Given the description of an element on the screen output the (x, y) to click on. 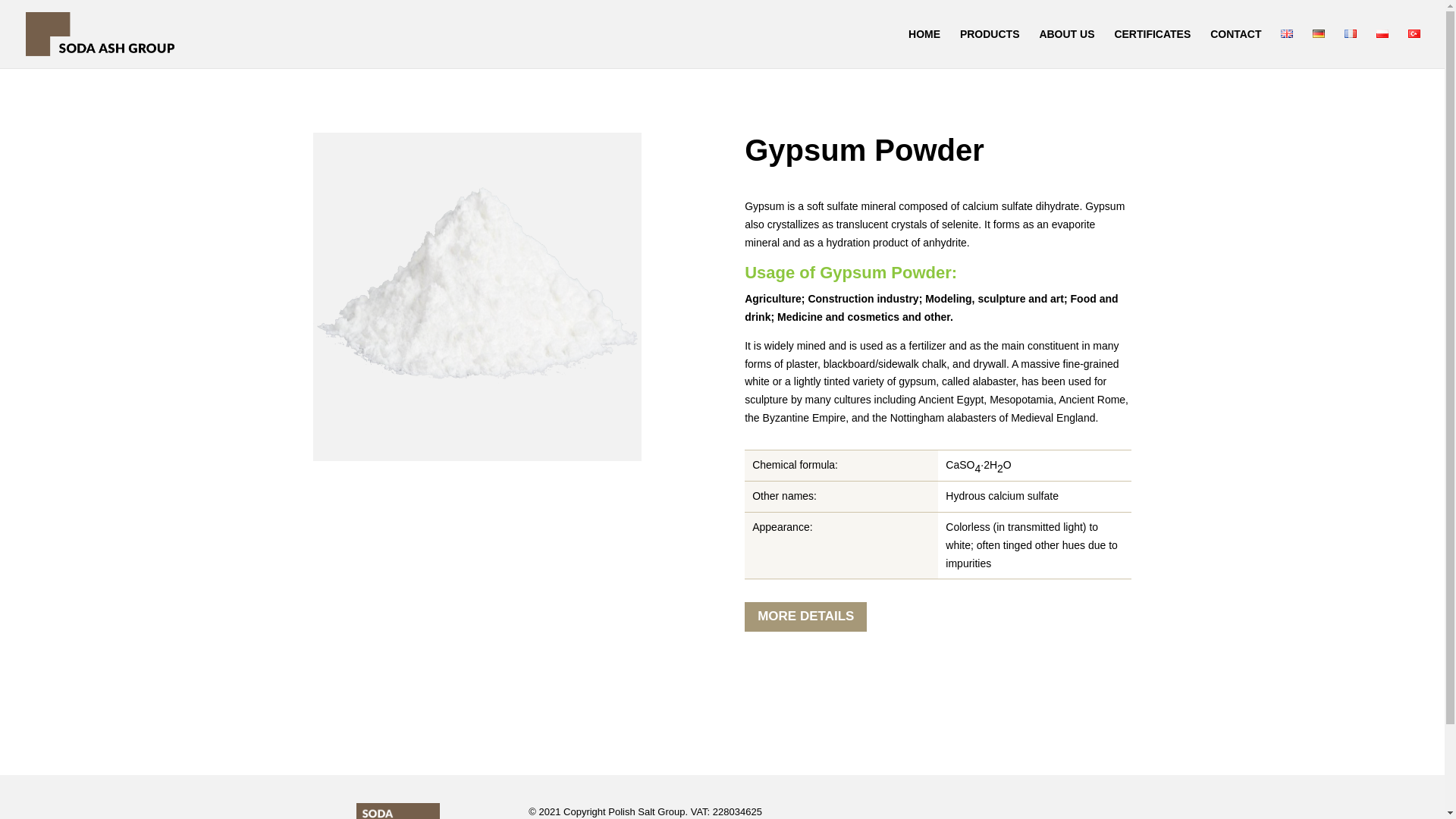
PRODUCTS (989, 47)
MORE DETAILS (805, 616)
CERTIFICATES (1152, 47)
ABOUT US (1066, 47)
CONTACT (1234, 47)
